Given the description of an element on the screen output the (x, y) to click on. 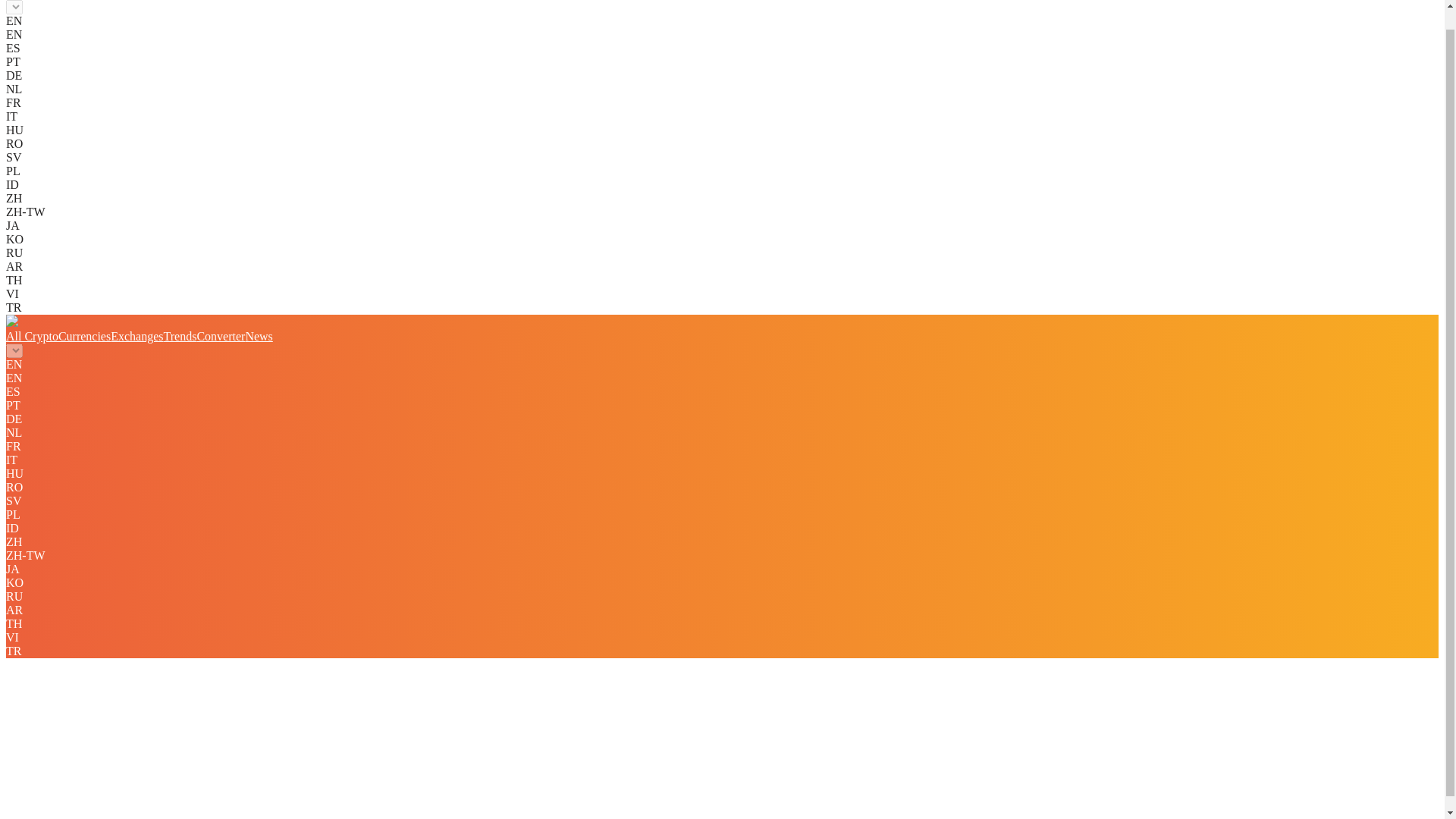
Converter (220, 336)
News (258, 336)
Trends (179, 336)
All CryptoCurrencies (57, 336)
Exchanges (136, 336)
